Given the description of an element on the screen output the (x, y) to click on. 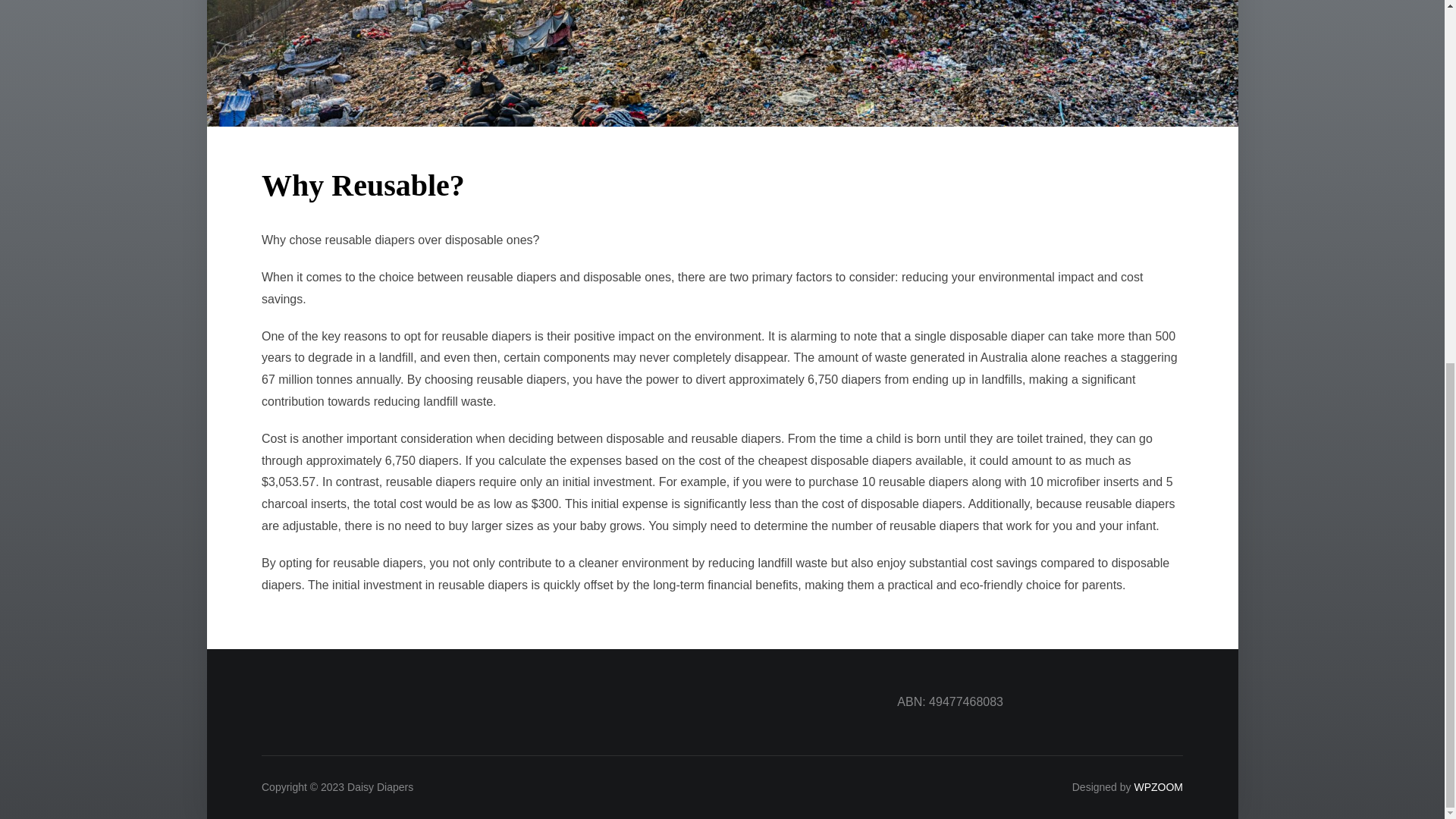
WPZOOM (1158, 787)
